Given the description of an element on the screen output the (x, y) to click on. 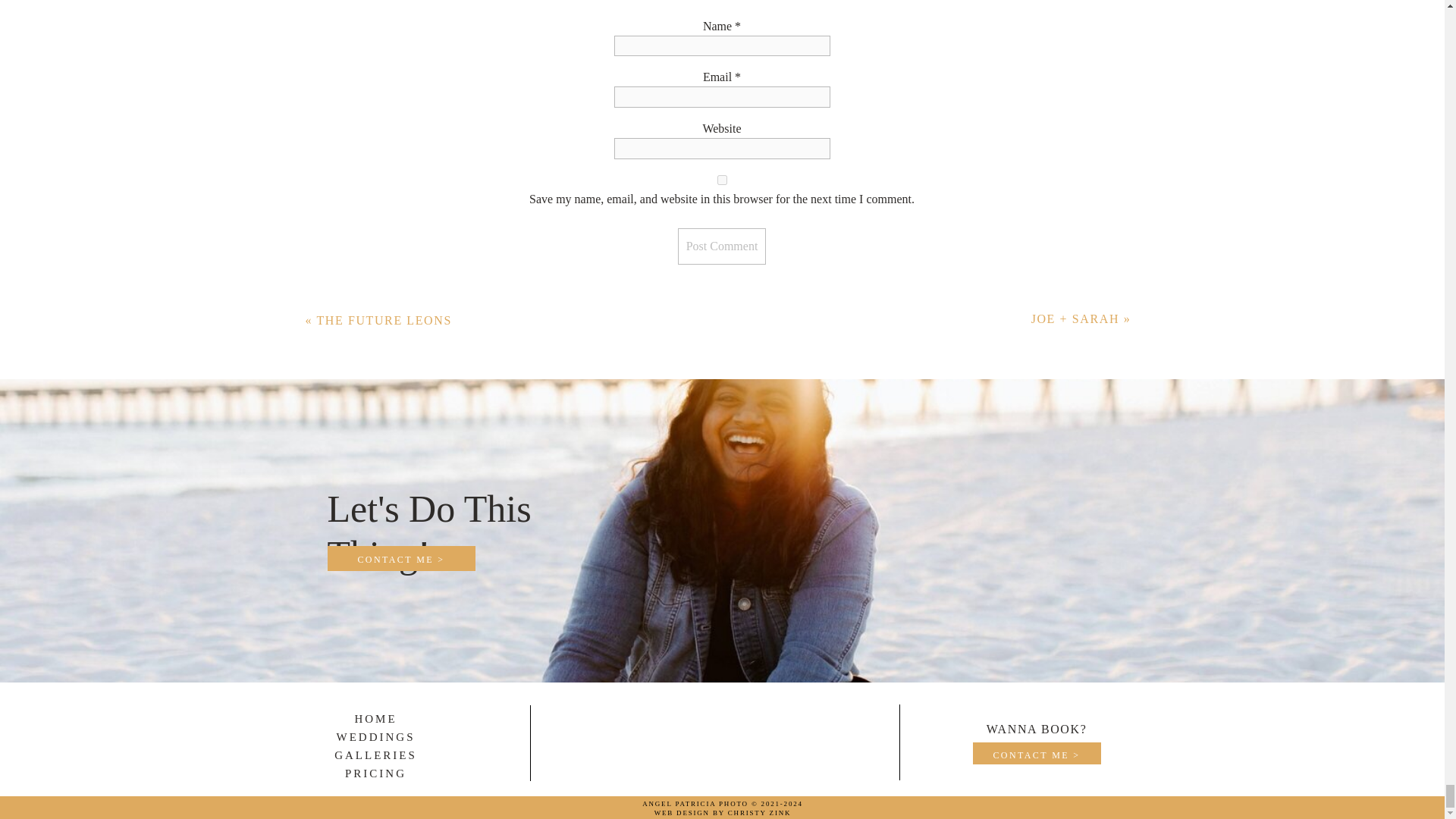
GALLERIES (375, 755)
WEDDINGS (375, 736)
Post Comment (722, 246)
THE FUTURE LEONS (383, 319)
Post Comment (722, 246)
yes (721, 180)
HOME (374, 718)
PRICING (375, 773)
